Given the description of an element on the screen output the (x, y) to click on. 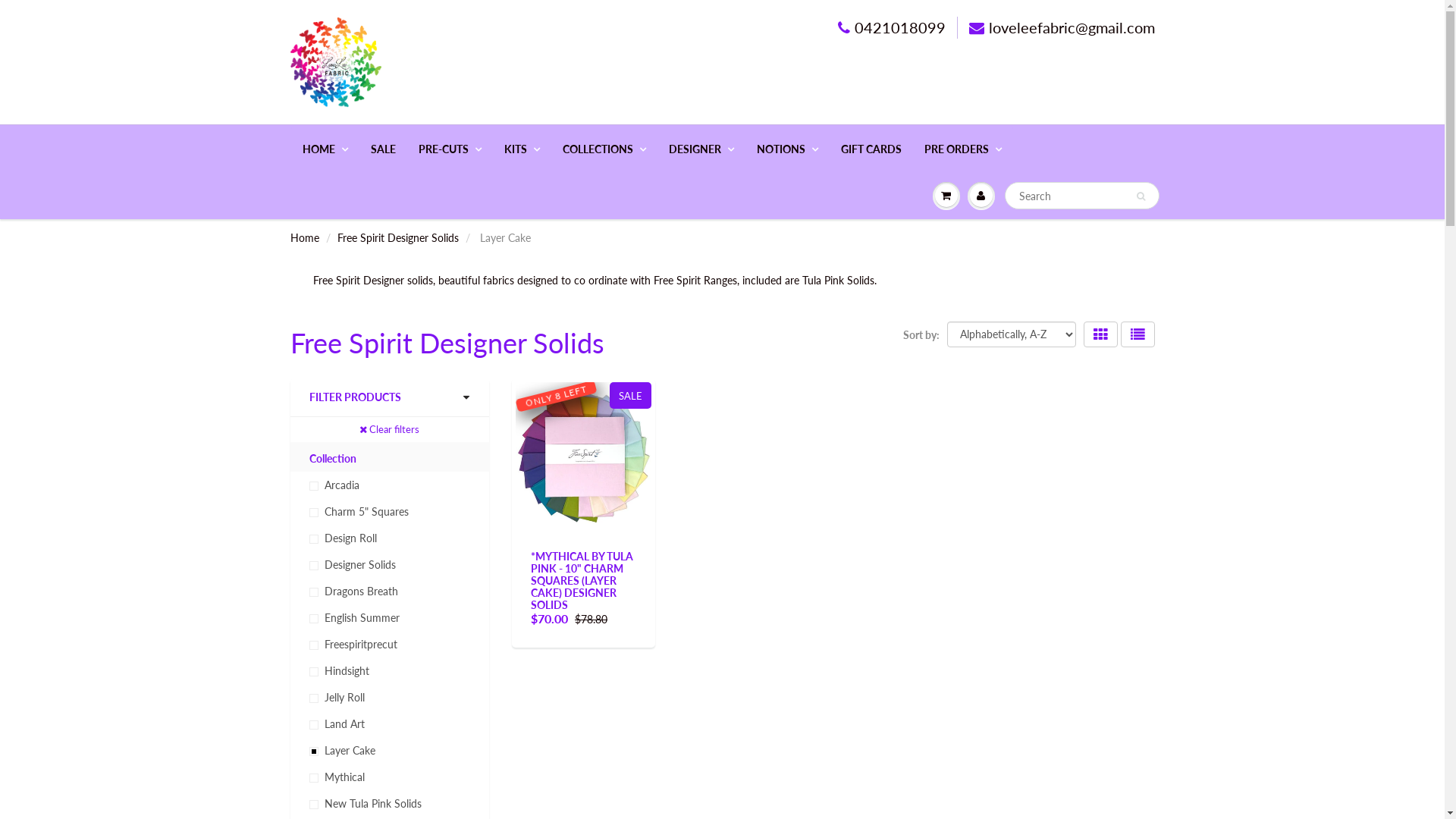
New Tula Pink Solids Element type: text (389, 803)
Layer Cake Element type: text (389, 750)
COLLECTIONS Element type: text (603, 148)
PRE-CUTS Element type: text (449, 148)
0421018099 Element type: text (890, 27)
Design Roll Element type: text (389, 538)
FILTER PRODUCTS Element type: text (389, 396)
SALE Element type: text (383, 148)
English Summer Element type: text (389, 617)
HOME Element type: text (325, 148)
Search Element type: text (1140, 196)
ONLY 8 LEFT Element type: text (583, 448)
Dragons Breath Element type: text (389, 591)
loveleefabric@gmail.com Element type: text (1061, 27)
Clear filters Element type: text (389, 429)
Home Element type: text (303, 237)
Freespiritprecut Element type: text (389, 644)
DESIGNER Element type: text (700, 148)
List View Element type: hover (1137, 334)
Free Spirit Designer Solids Element type: text (397, 237)
KITS Element type: text (521, 148)
Charm 5" Squares Element type: text (389, 511)
Designer Solids Element type: text (389, 564)
NOTIONS Element type: text (786, 148)
ONLY 8 LEFT Element type: text (555, 385)
PRE ORDERS Element type: text (963, 148)
Arcadia Element type: text (389, 484)
Land Art Element type: text (389, 723)
Jelly Roll Element type: text (389, 697)
GIFT CARDS Element type: text (871, 148)
Grid view Element type: hover (1099, 334)
Mythical Element type: text (389, 776)
Hindsight Element type: text (389, 670)
